Given the description of an element on the screen output the (x, y) to click on. 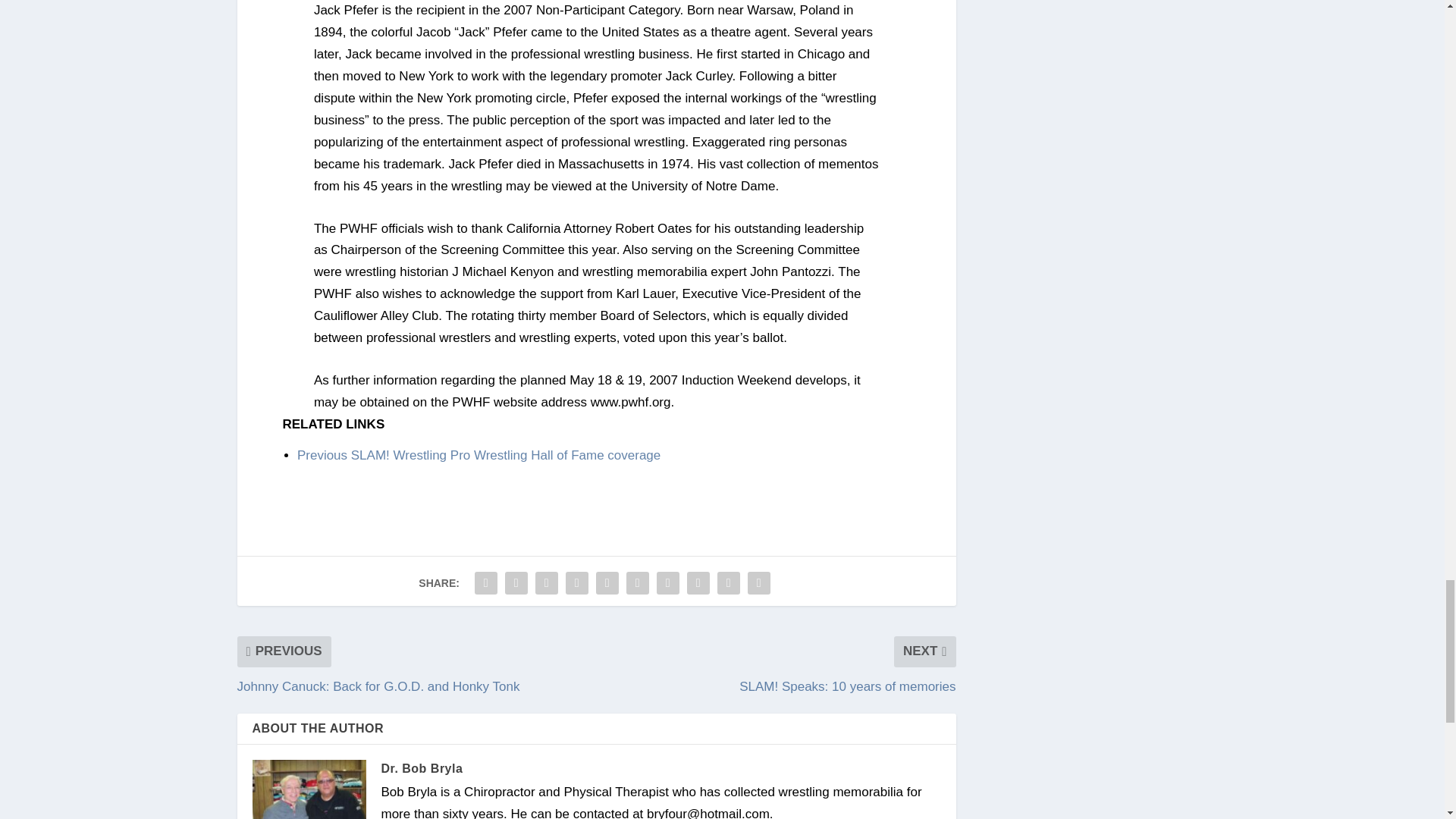
Share "PWHF announces 2007 induction class" via Facebook (485, 583)
Share "PWHF announces 2007 induction class" via Tumblr (577, 583)
View all posts by Dr. Bob Bryla (421, 768)
Share "PWHF announces 2007 induction class" via Stumbleupon (697, 583)
Share "PWHF announces 2007 induction class" via LinkedIn (637, 583)
Share "PWHF announces 2007 induction class" via Twitter (515, 583)
Share "PWHF announces 2007 induction class" via Pinterest (607, 583)
Share "PWHF announces 2007 induction class" via Email (728, 583)
Share "PWHF announces 2007 induction class" via Buffer (667, 583)
Previous SLAM! Wrestling Pro Wrestling Hall of Fame coverage (479, 454)
